Given the description of an element on the screen output the (x, y) to click on. 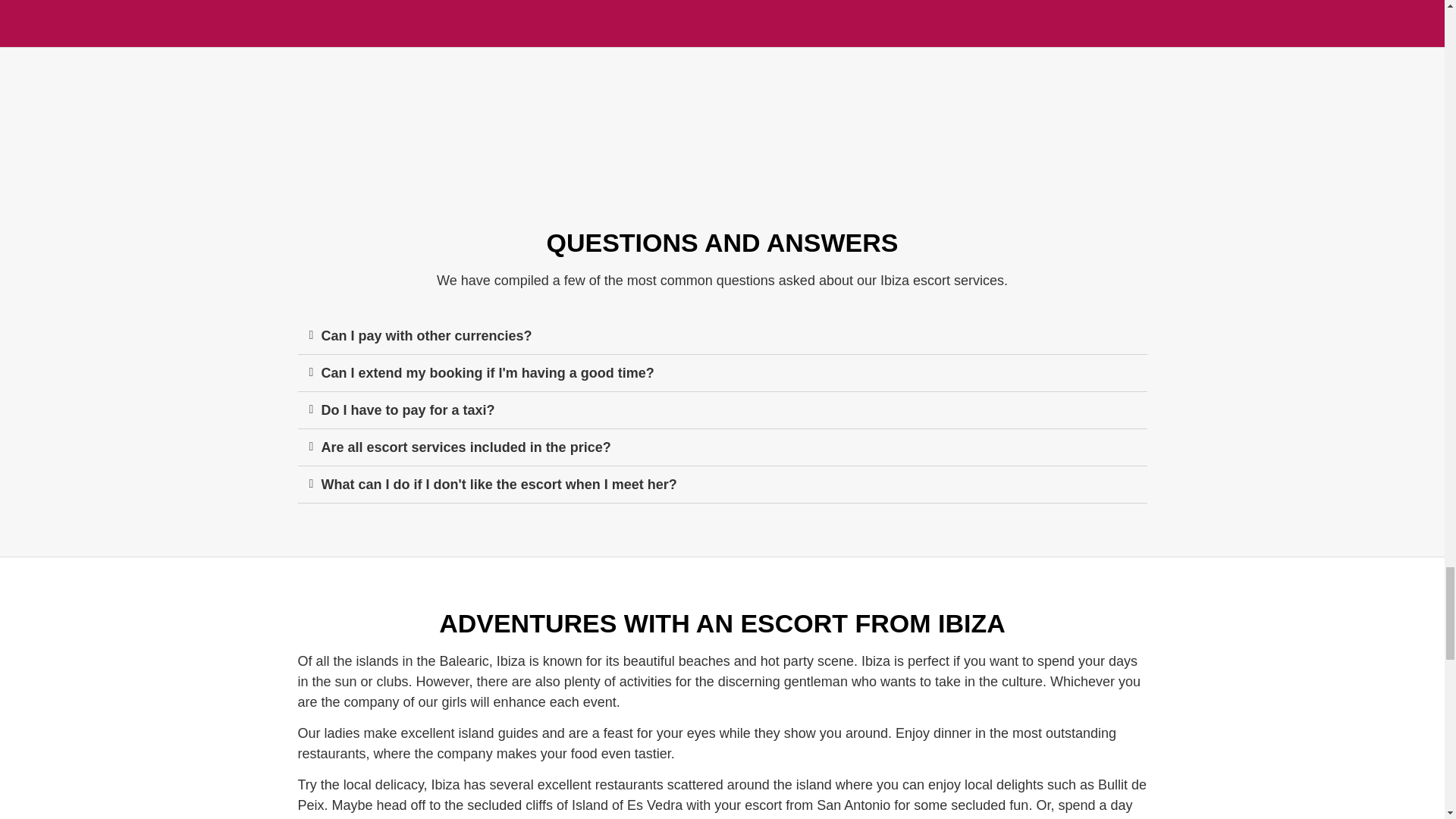
Can I extend my booking if I'm having a good time? (487, 372)
What can I do if I don't like the escort when I meet her? (499, 484)
Do I have to pay for a taxi? (408, 409)
Can I pay with other currencies? (426, 335)
Are all escort services included in the price? (466, 447)
